Given the description of an element on the screen output the (x, y) to click on. 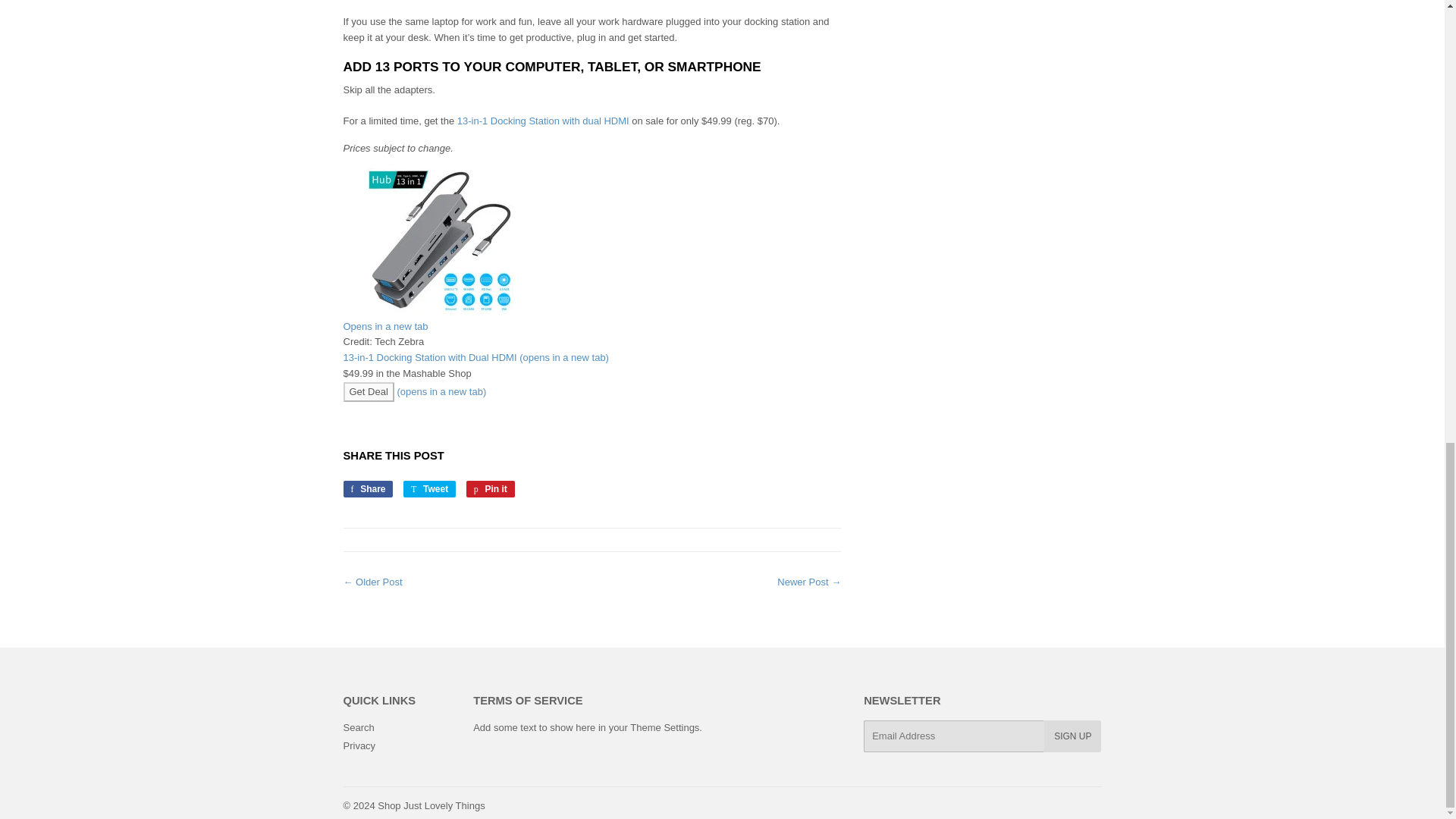
13-in-1 Docking Station with dual HDMI (542, 120)
Opens in a new tab (591, 319)
Privacy (358, 745)
Share on Facebook (367, 488)
SIGN UP (367, 488)
Pin on Pinterest (1071, 736)
Theme Settings (490, 488)
Shop Just Lovely Things (664, 727)
Search (429, 488)
Get Deal (430, 805)
Tweet on Twitter (358, 727)
